Given the description of an element on the screen output the (x, y) to click on. 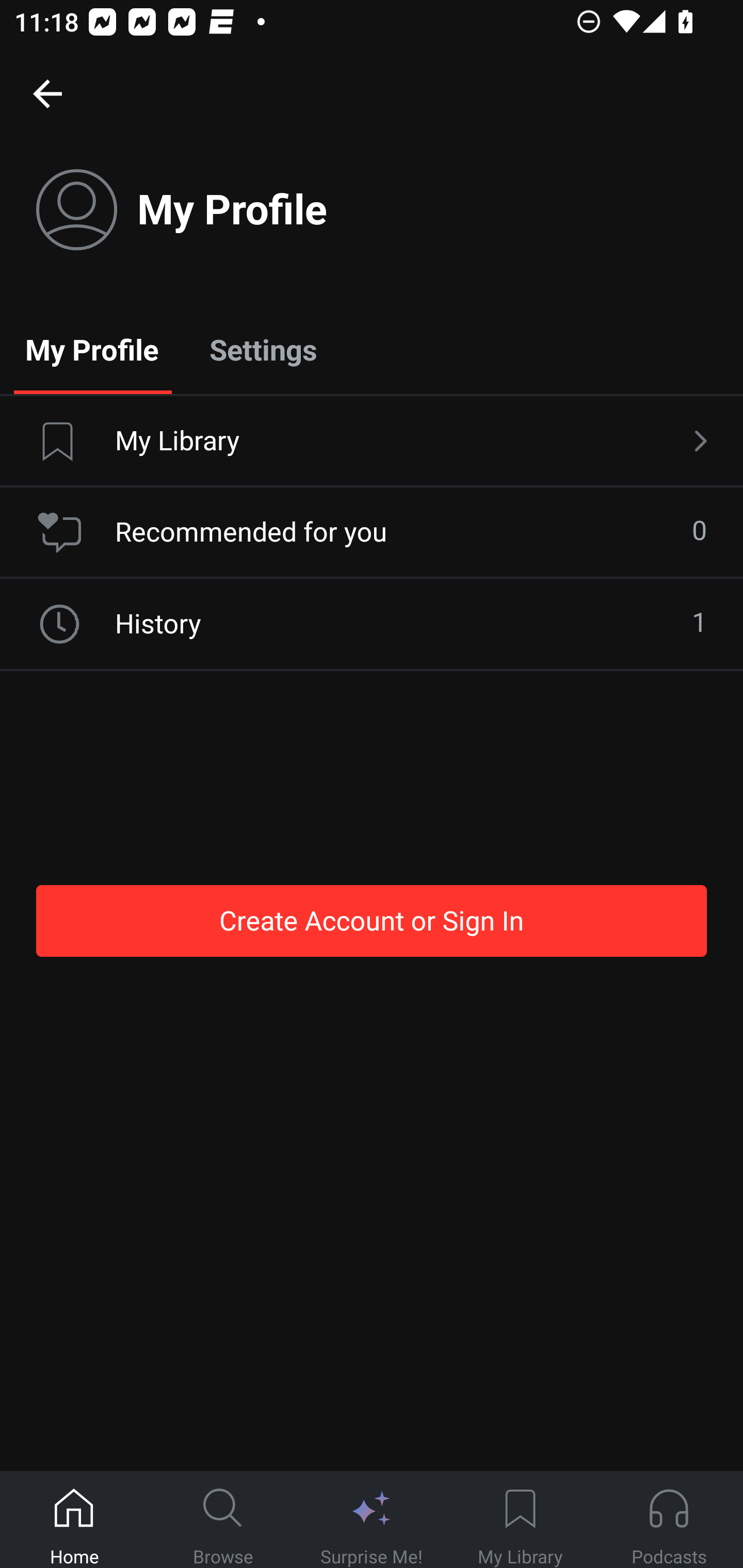
Home, back (47, 92)
My Profile (92, 348)
Settings (263, 348)
My Library (371, 441)
Recommended for you 0 (371, 532)
History 1 (371, 623)
Create Account or Sign In (371, 920)
Home (74, 1520)
Browse (222, 1520)
Surprise Me! (371, 1520)
My Library (519, 1520)
Podcasts (668, 1520)
